Given the description of an element on the screen output the (x, y) to click on. 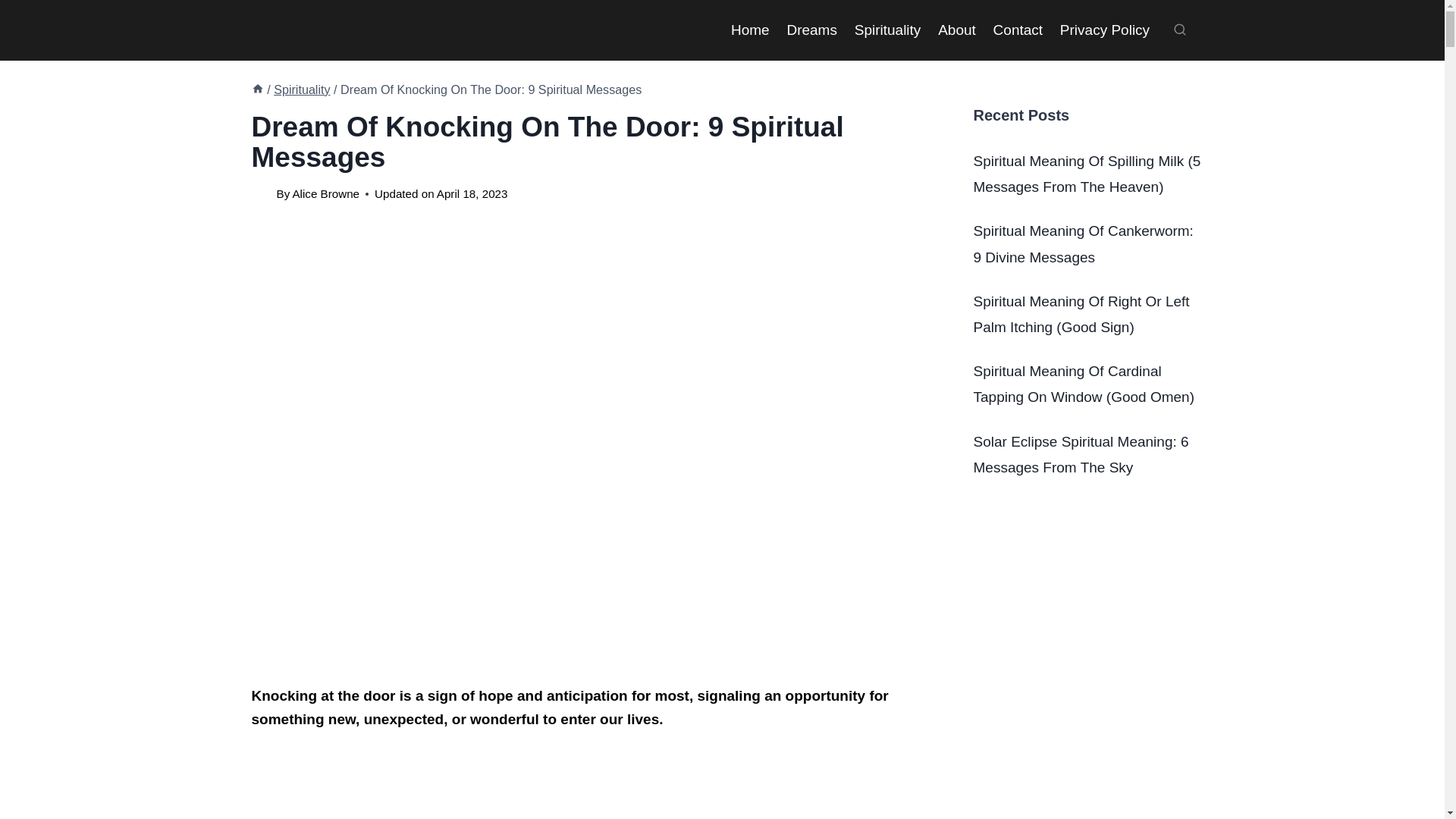
Home (257, 89)
Dreams (811, 29)
Privacy Policy (1104, 29)
Home (749, 29)
Alice Browne (325, 193)
About (957, 29)
Spirituality (301, 89)
Spirituality (886, 29)
Contact (1017, 29)
